Given the description of an element on the screen output the (x, y) to click on. 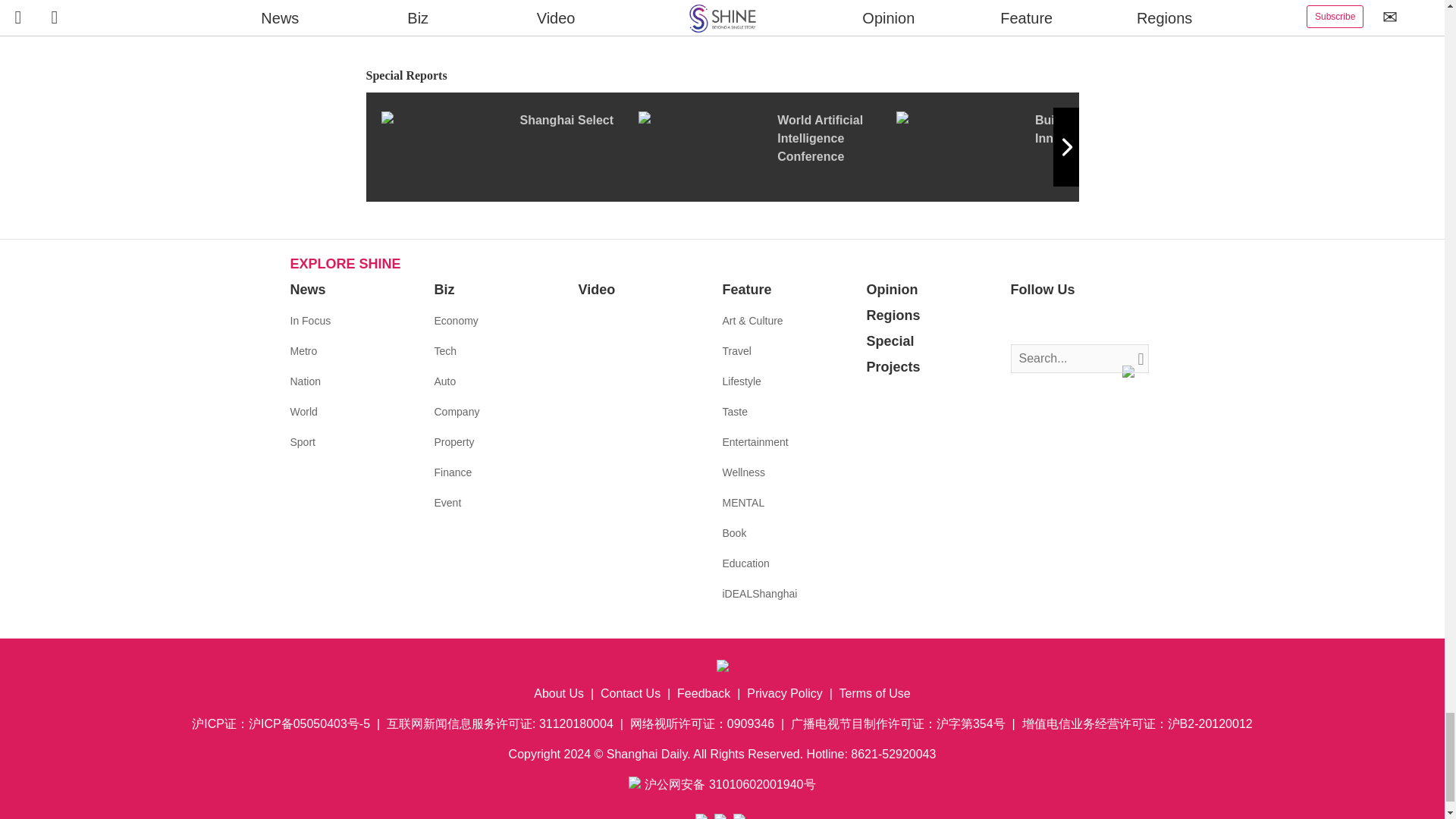
Follow us on Instagram (1067, 321)
Follow us on Youtube (1090, 321)
Shanghai Select (508, 146)
Special Reports (721, 76)
Follow us on Twitter (1044, 321)
Follow us on Facebook (1021, 321)
Follow us on Wechat (1112, 321)
